Given the description of an element on the screen output the (x, y) to click on. 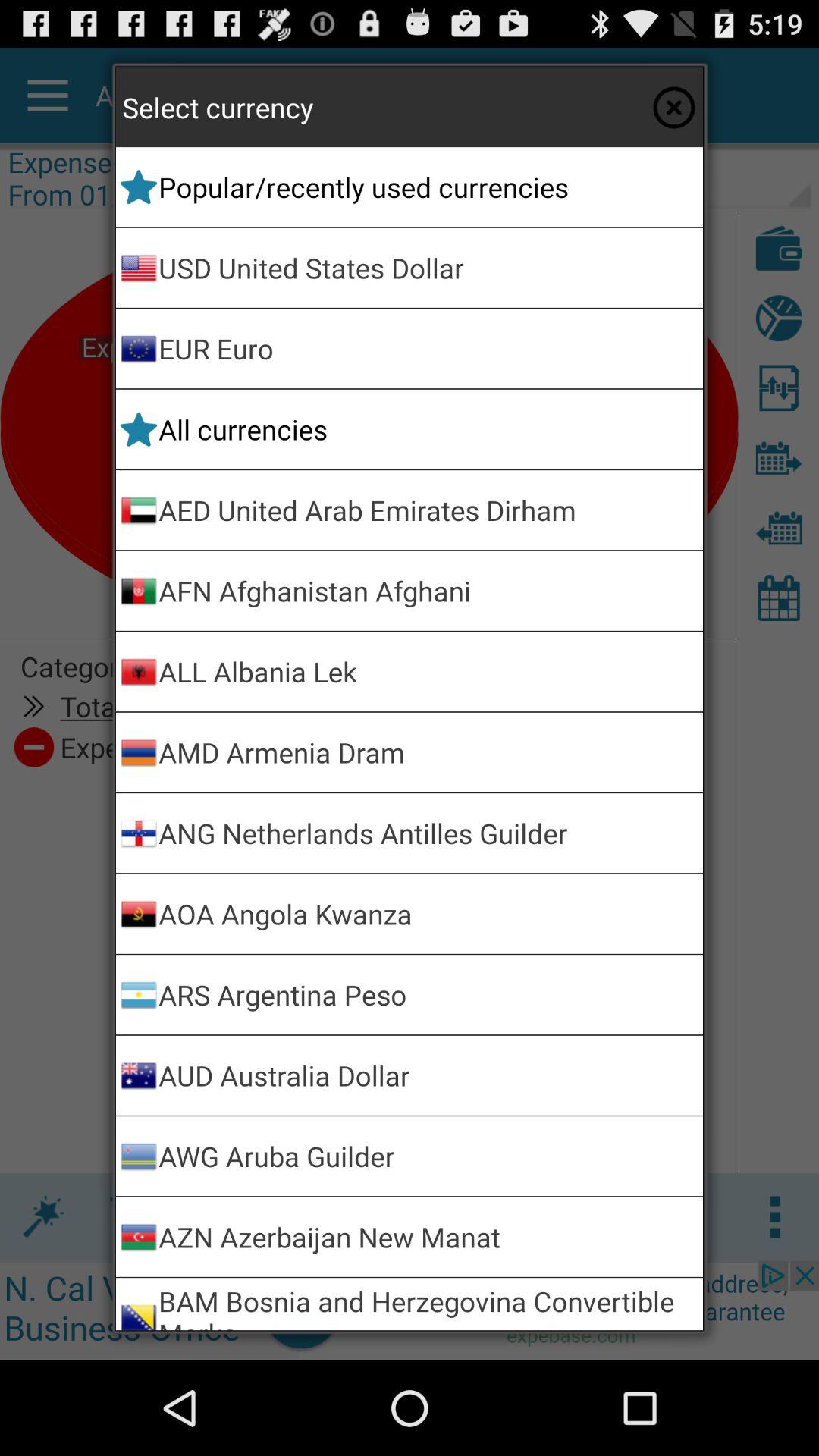
choose icon above the aed united arab icon (427, 429)
